Given the description of an element on the screen output the (x, y) to click on. 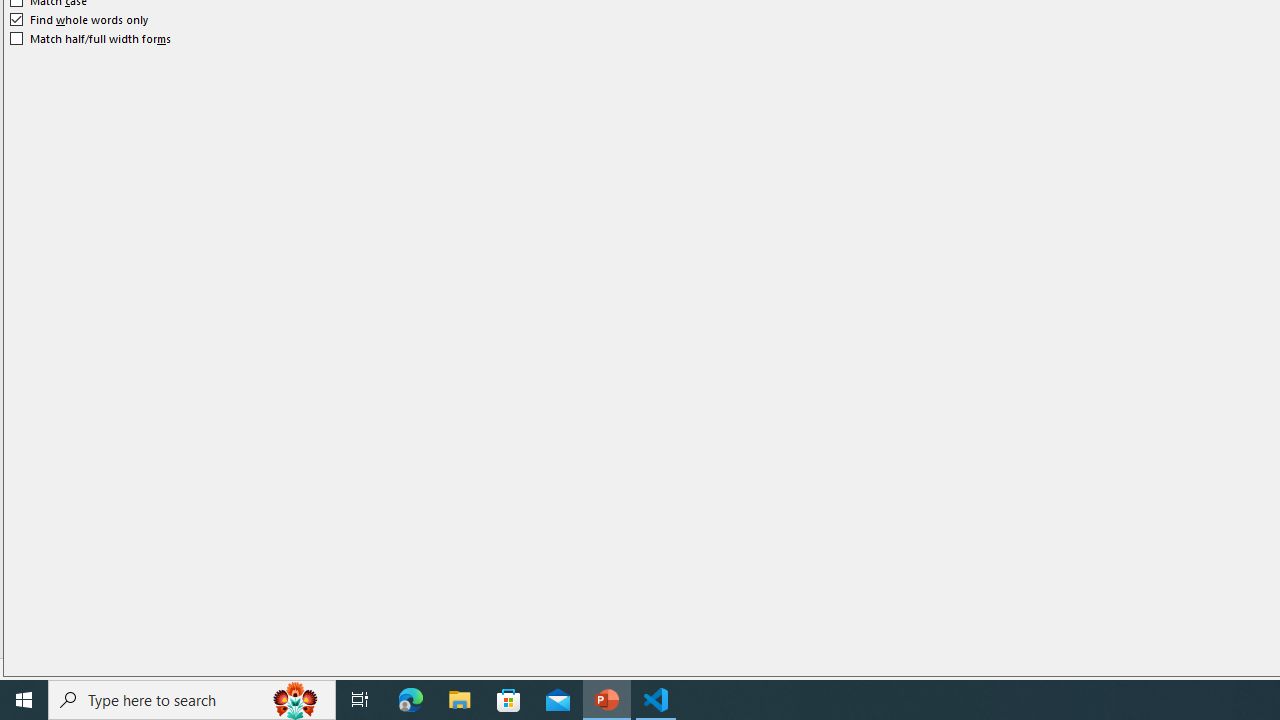
Find whole words only (79, 20)
Match half/full width forms (91, 38)
